Given the description of an element on the screen output the (x, y) to click on. 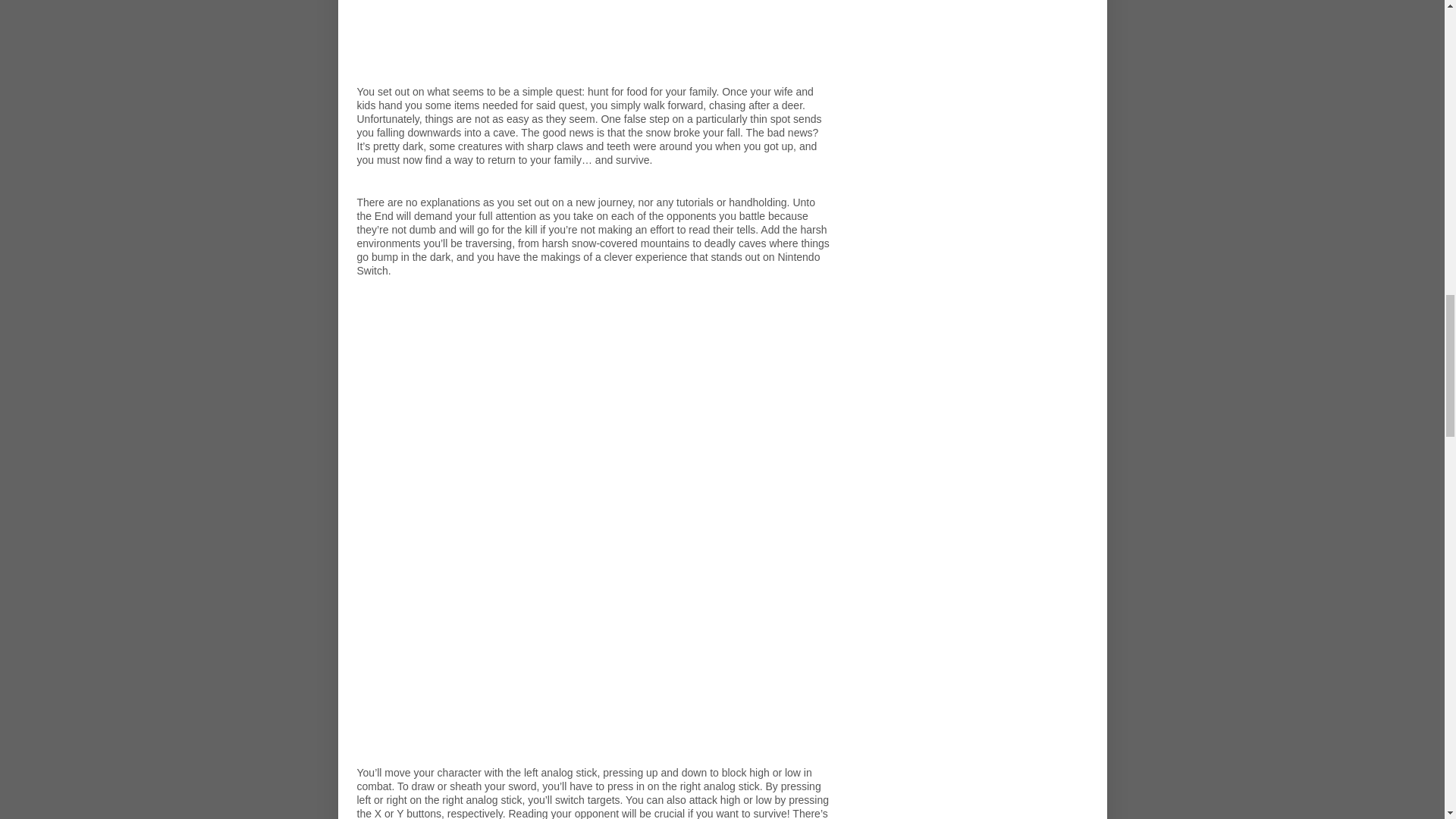
Advertisement (592, 42)
